Given the description of an element on the screen output the (x, y) to click on. 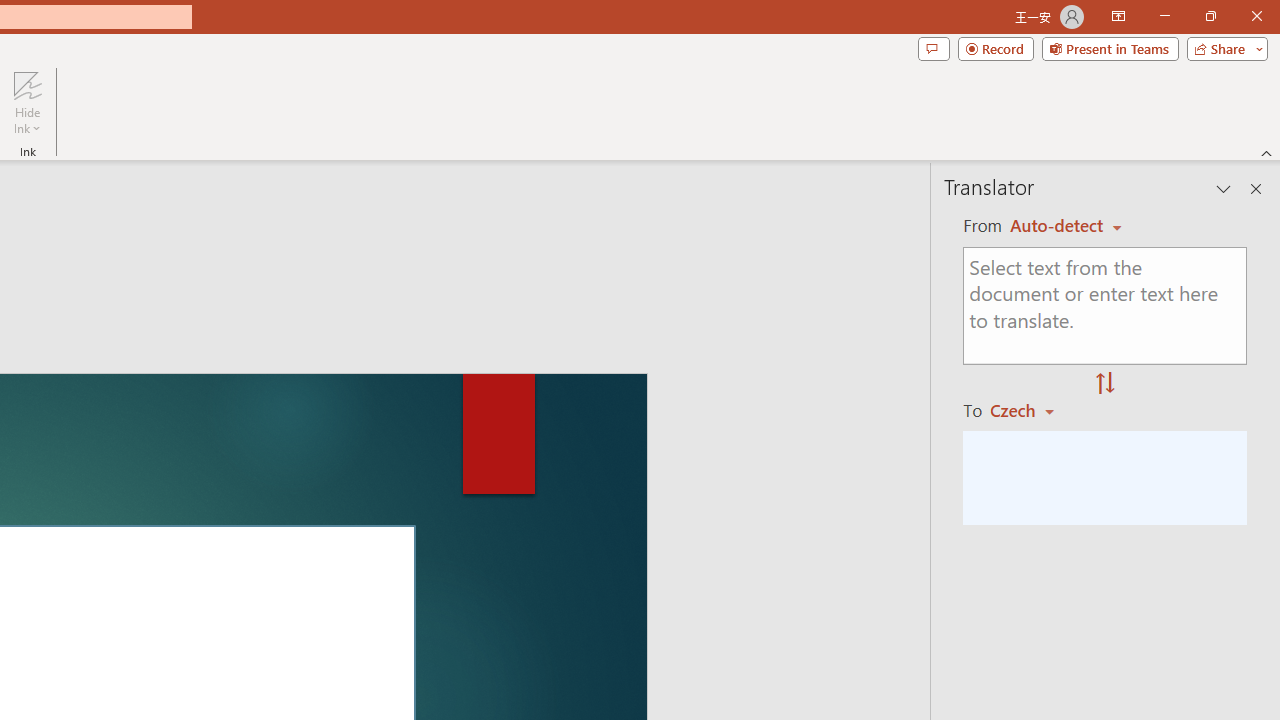
Restore Down (1210, 16)
Record (995, 48)
Comments (933, 48)
Task Pane Options (1224, 188)
